Given the description of an element on the screen output the (x, y) to click on. 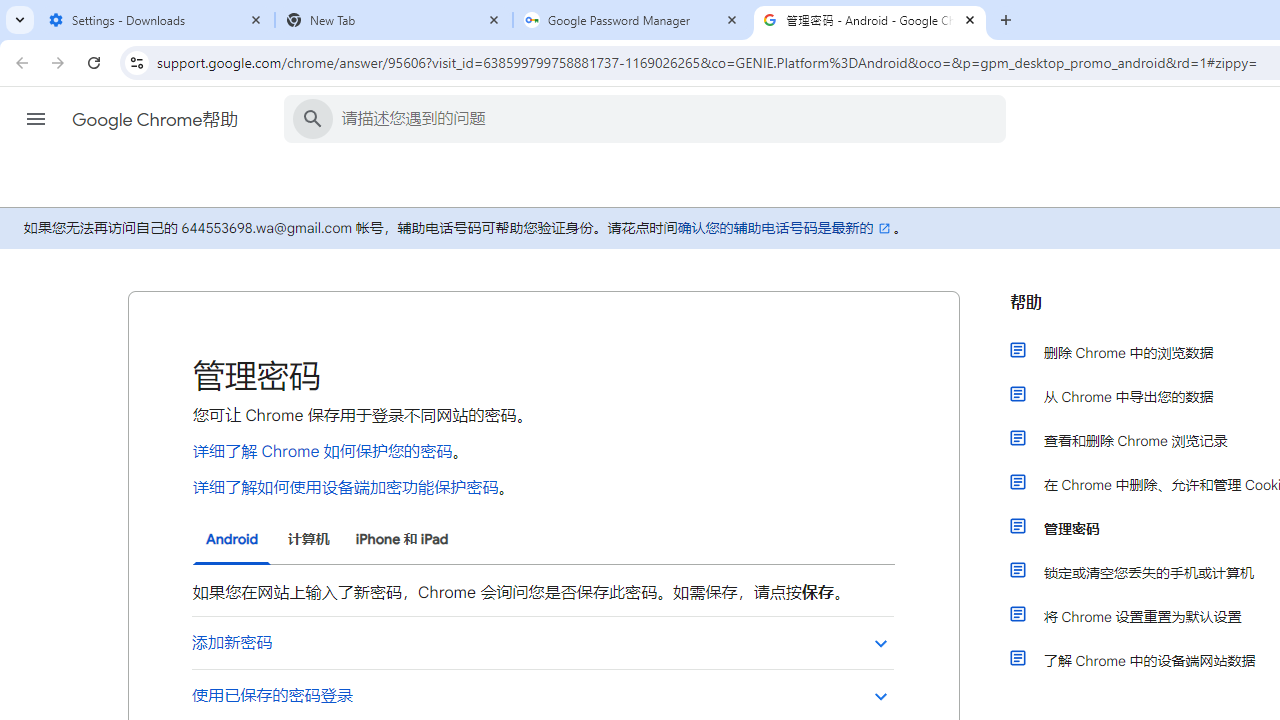
Android (232, 540)
New Tab (394, 20)
Google Password Manager (632, 20)
